Given the description of an element on the screen output the (x, y) to click on. 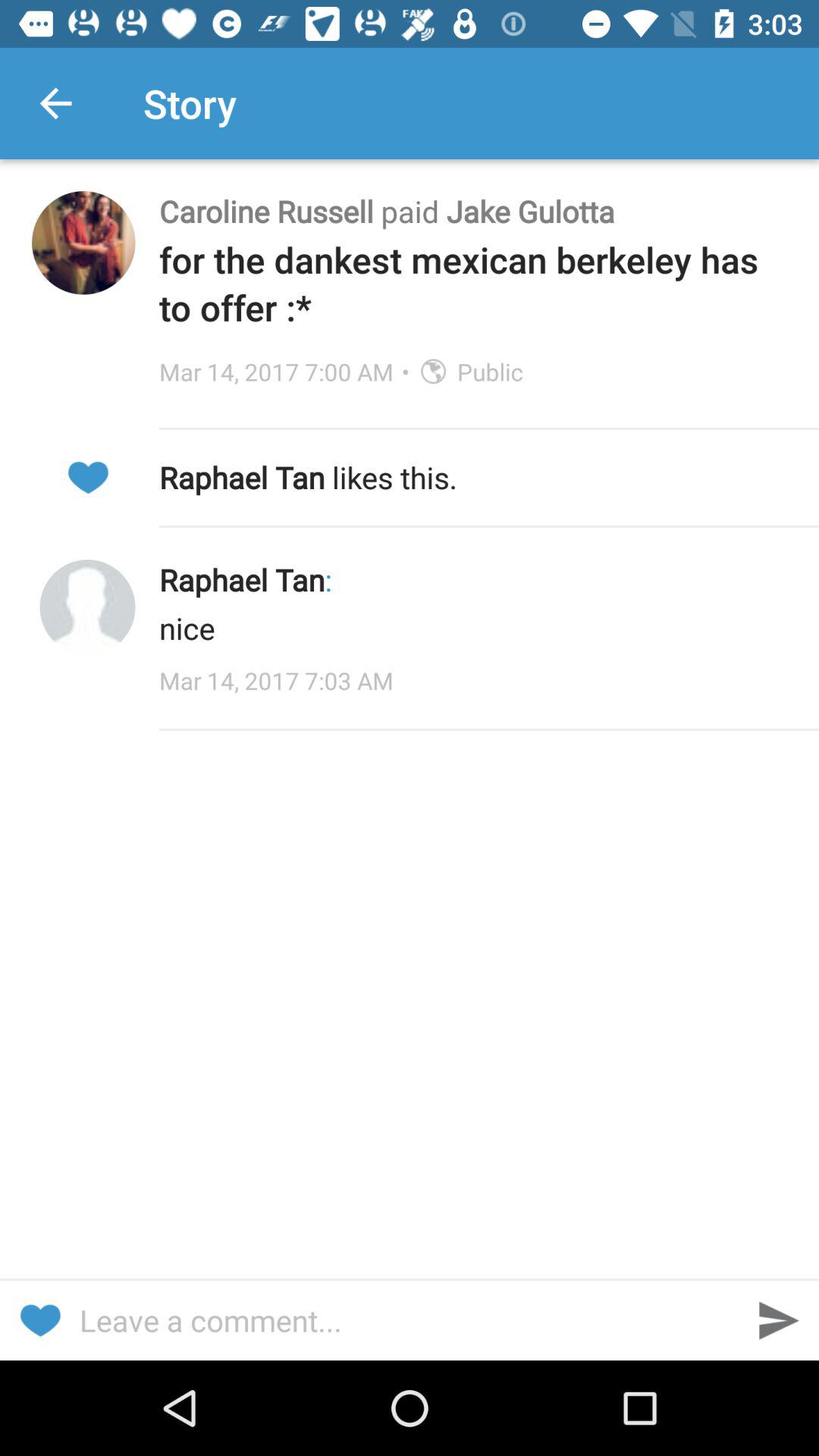
open icon to the left of raphael tan likes icon (87, 477)
